Given the description of an element on the screen output the (x, y) to click on. 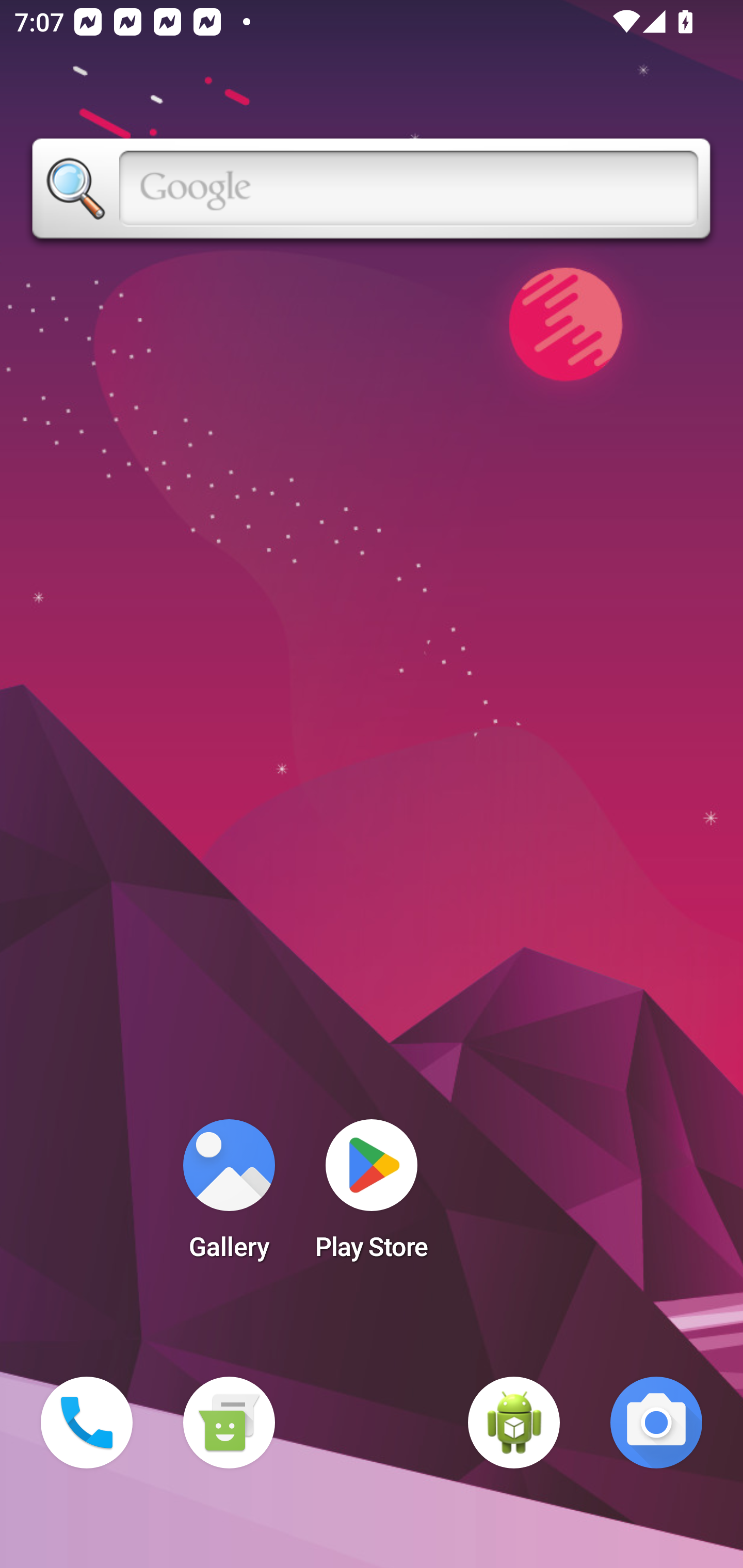
Gallery (228, 1195)
Play Store (371, 1195)
Phone (86, 1422)
Messaging (228, 1422)
WebView Browser Tester (513, 1422)
Camera (656, 1422)
